Given the description of an element on the screen output the (x, y) to click on. 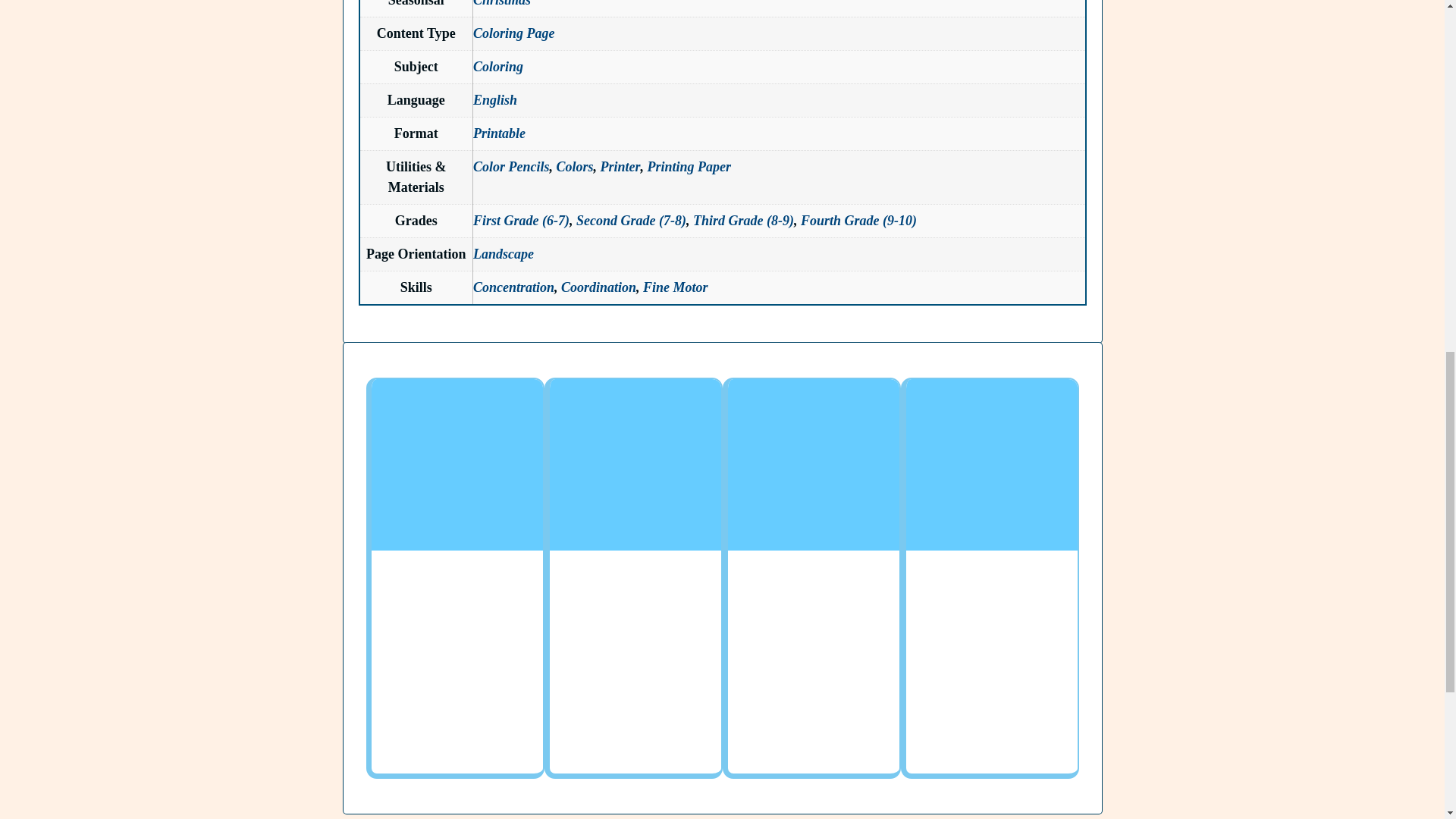
Coloring Page (513, 32)
Christmas (502, 3)
Coloring (497, 66)
